Given the description of an element on the screen output the (x, y) to click on. 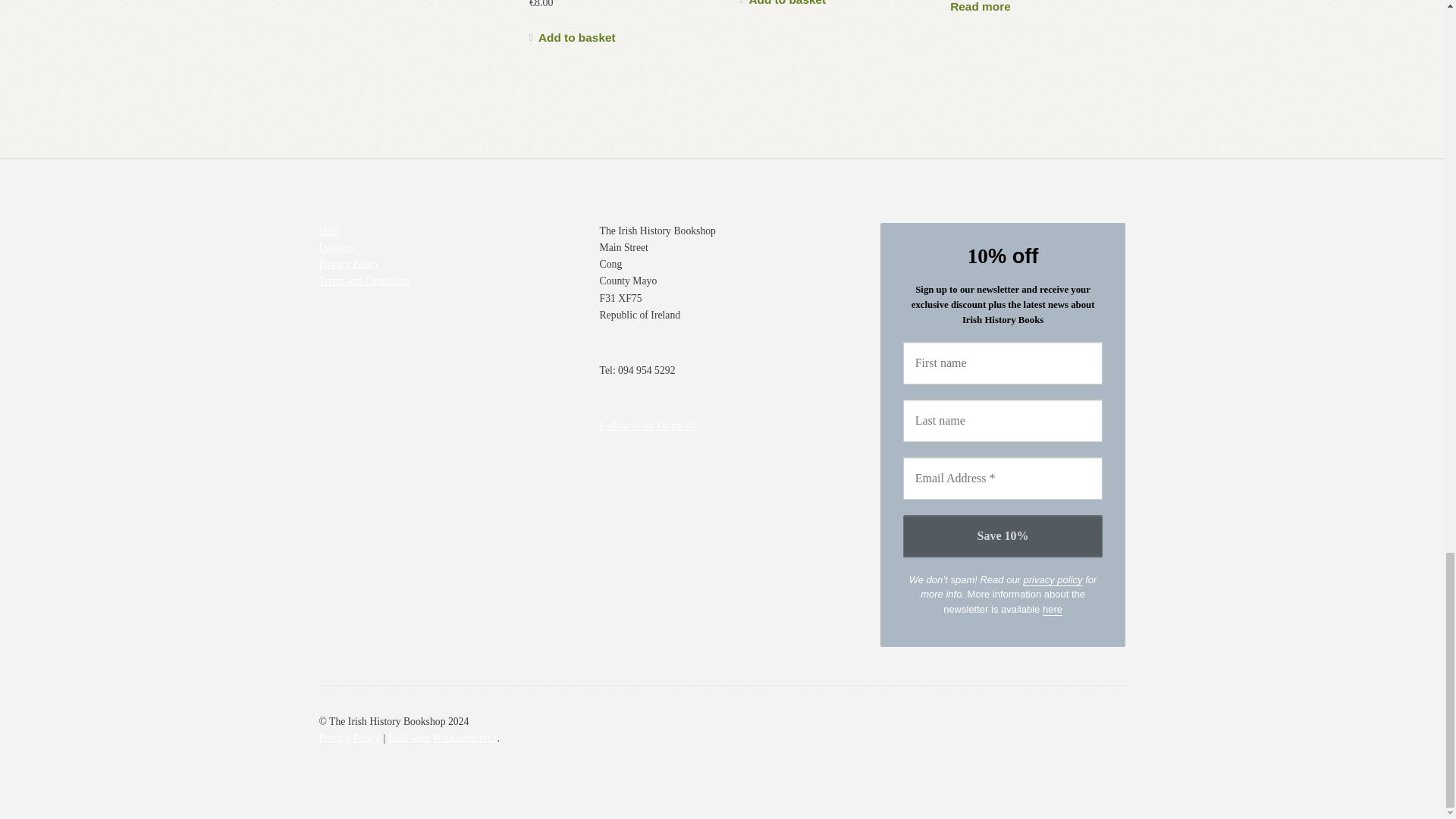
Last name (1002, 420)
First name (1002, 363)
Email Address (1002, 478)
WooCommerce - The Best eCommerce Platform for WordPress (441, 737)
